Given the description of an element on the screen output the (x, y) to click on. 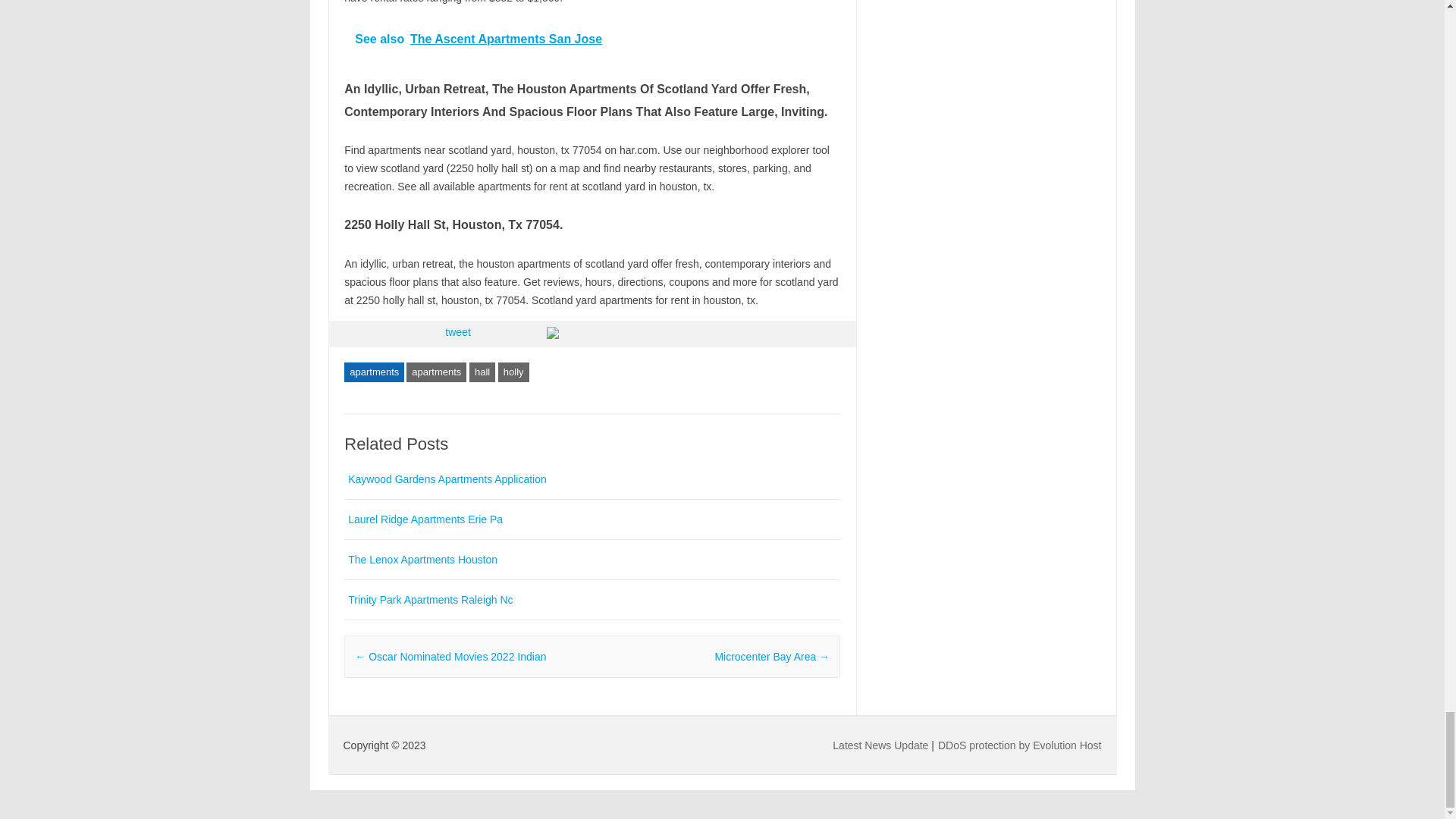
holly (513, 372)
Laurel Ridge Apartments Erie Pa (424, 519)
The Lenox Apartments Houston (422, 559)
hall (481, 372)
tweet (457, 331)
Kaywood Gardens Apartments Application (447, 479)
Trinity Park Apartments Raleigh Nc (429, 599)
Laurel Ridge Apartments Erie Pa (424, 519)
Trinity Park Apartments Raleigh Nc (429, 599)
Kaywood Gardens Apartments Application (447, 479)
apartments (373, 372)
See also  The Ascent Apartments San Jose (591, 38)
The Lenox Apartments Houston (422, 559)
apartments (435, 372)
